Given the description of an element on the screen output the (x, y) to click on. 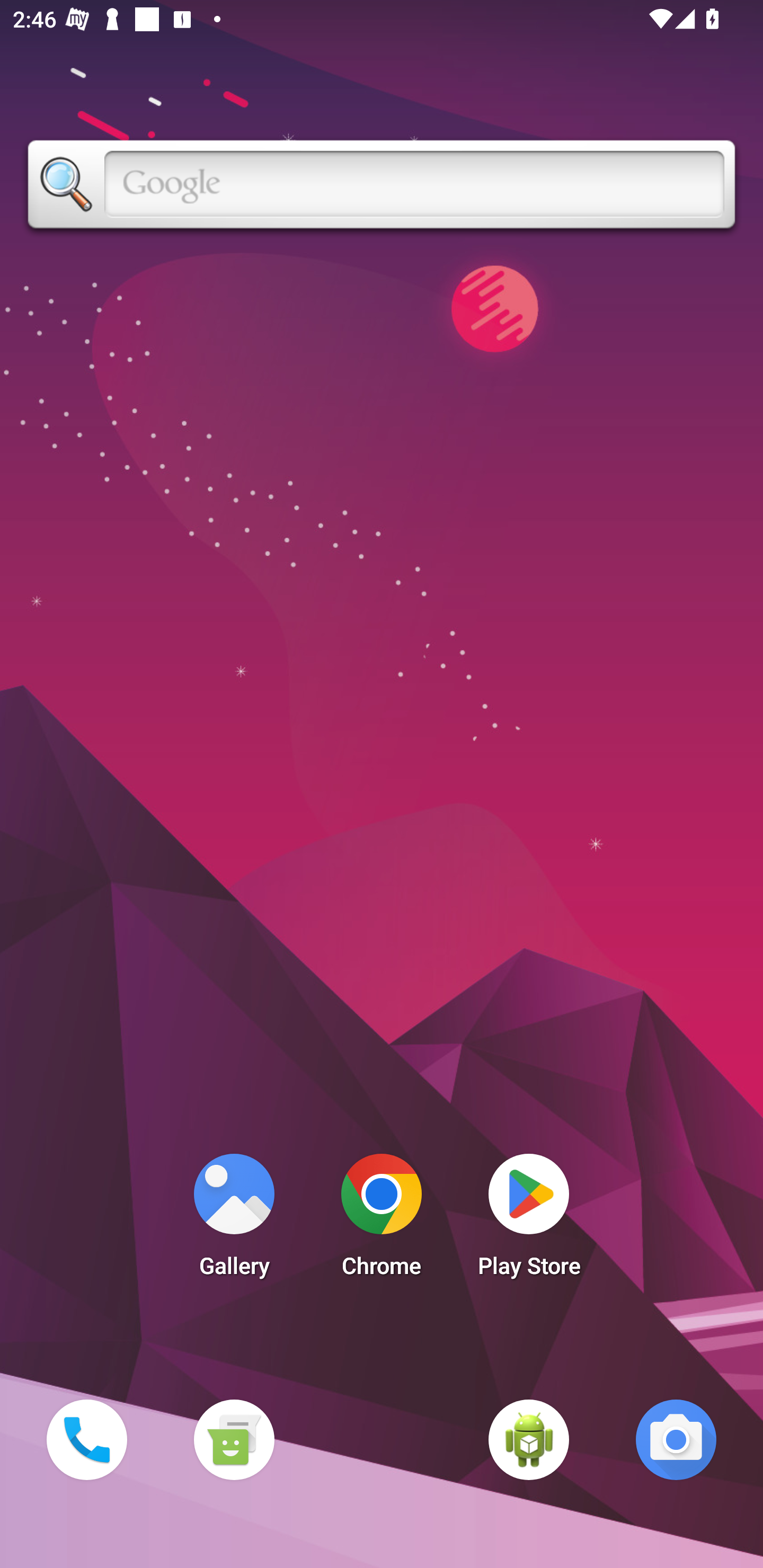
Gallery (233, 1220)
Chrome (381, 1220)
Play Store (528, 1220)
Phone (86, 1439)
Messaging (233, 1439)
WebView Browser Tester (528, 1439)
Camera (676, 1439)
